Given the description of an element on the screen output the (x, y) to click on. 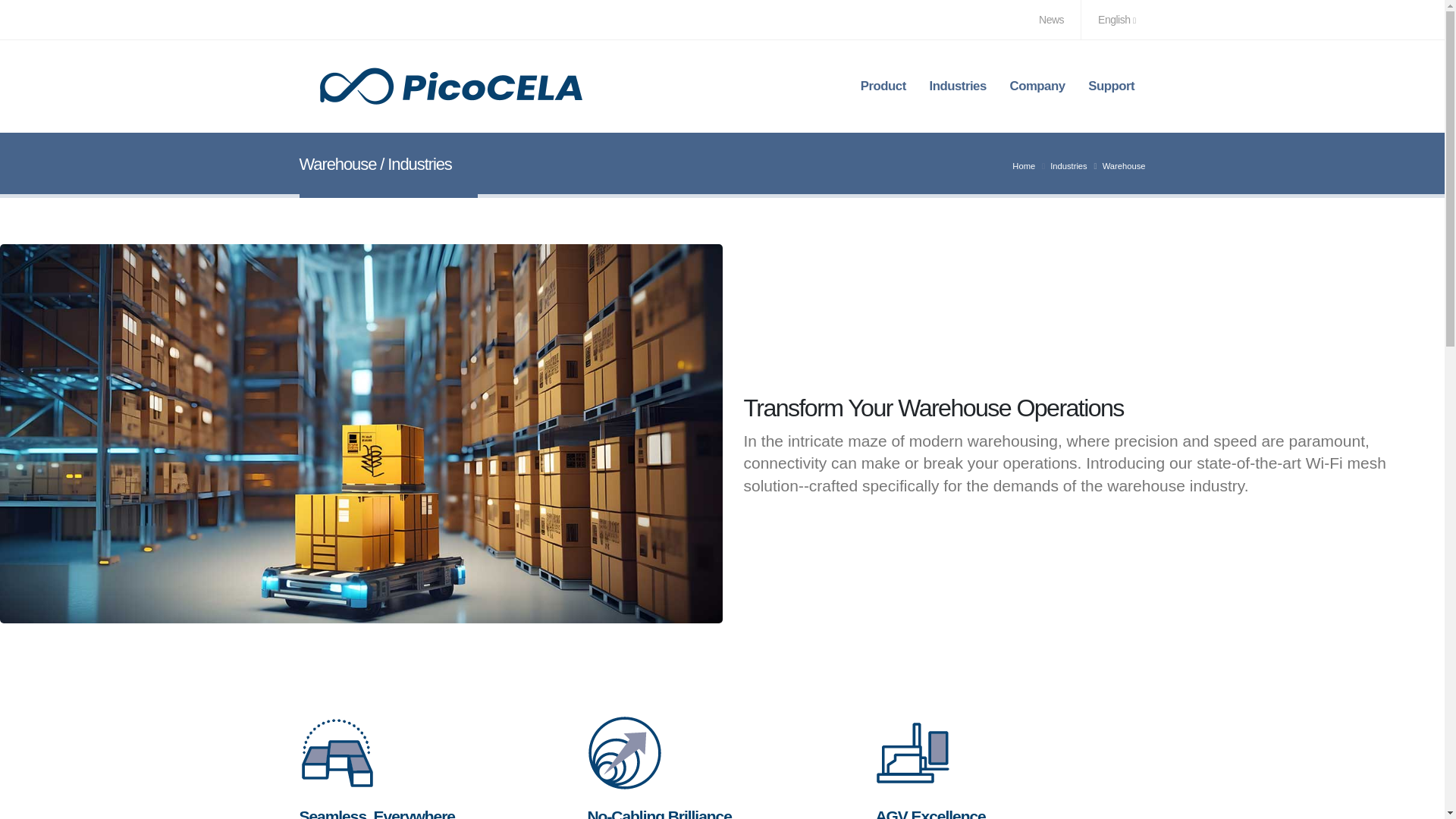
Home (1023, 165)
English (1117, 19)
English (1117, 19)
PicoCELA Inc. (450, 85)
Industries (1068, 165)
News (1050, 19)
